Given the description of an element on the screen output the (x, y) to click on. 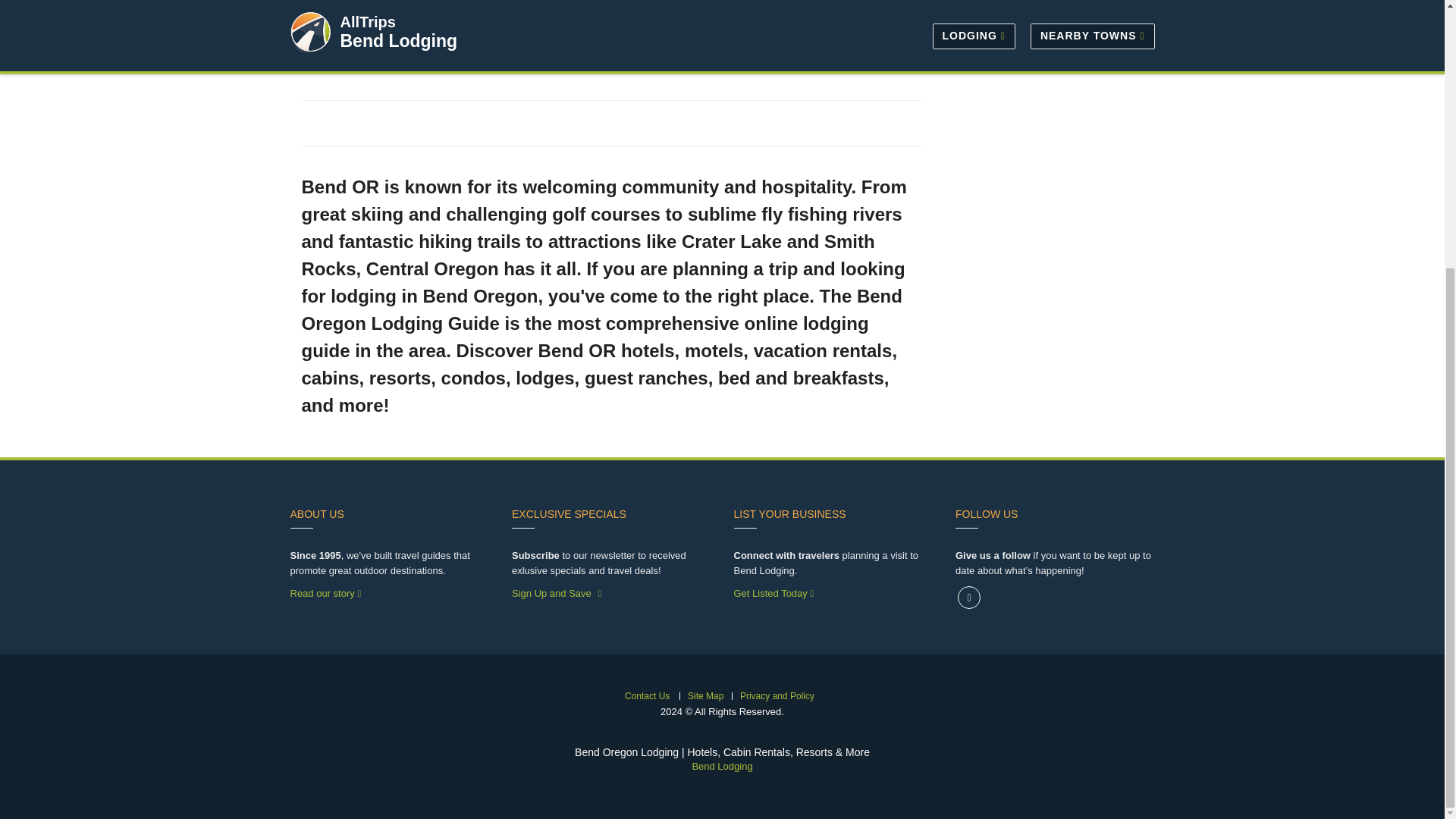
Bend Lodging (721, 766)
